Given the description of an element on the screen output the (x, y) to click on. 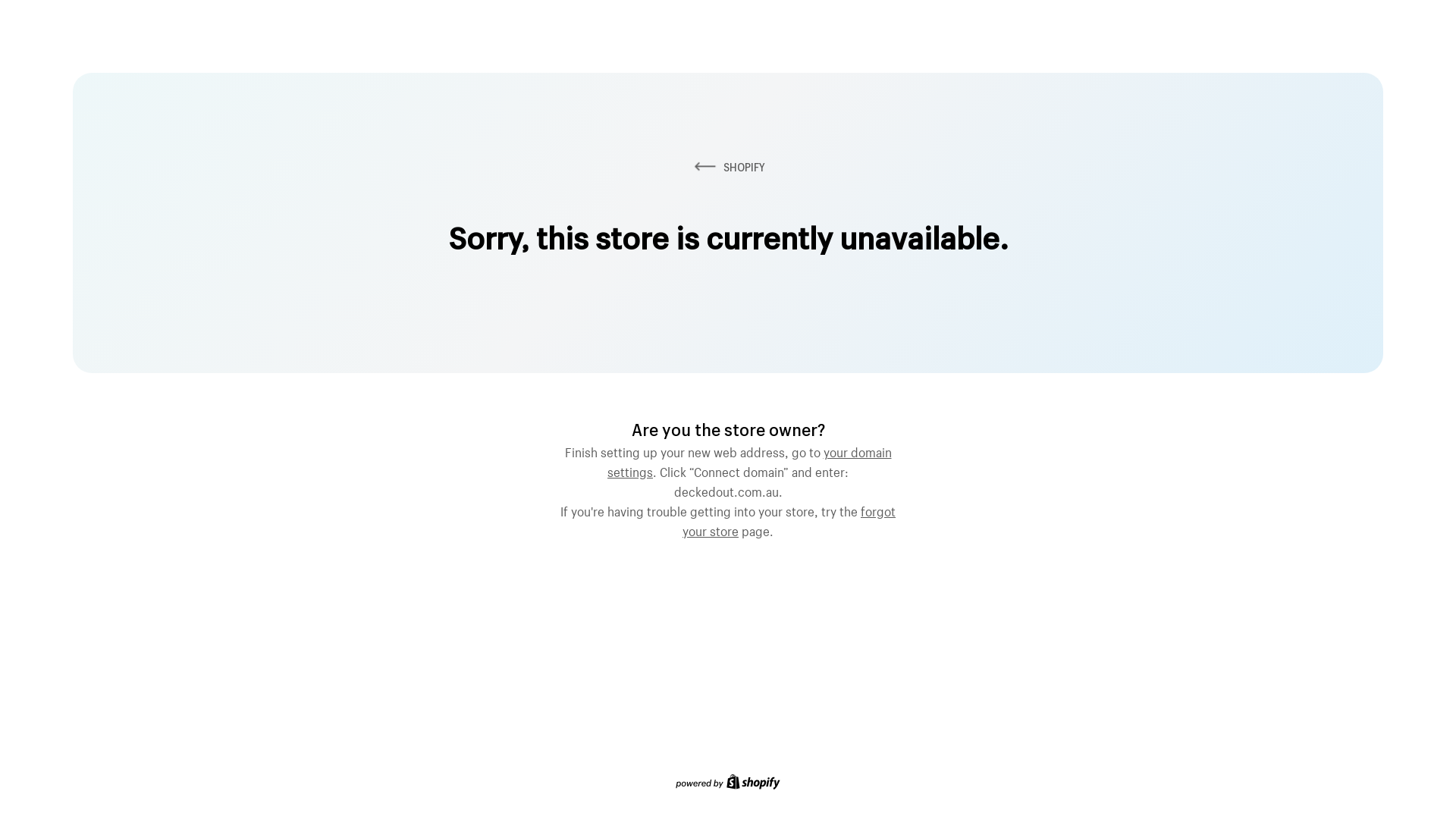
SHOPIFY Element type: text (727, 167)
your domain settings Element type: text (749, 460)
forgot your store Element type: text (788, 519)
